Given the description of an element on the screen output the (x, y) to click on. 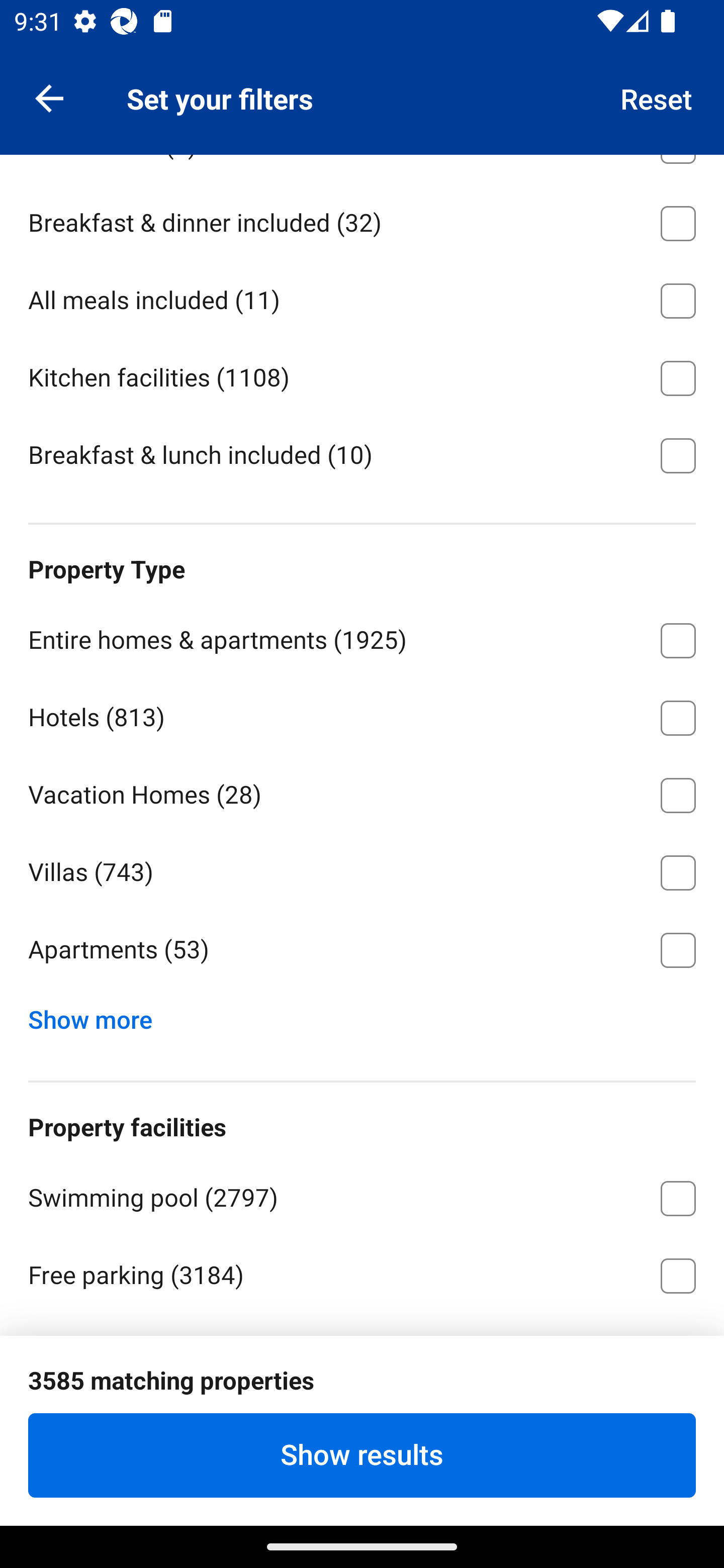
Navigate up (49, 97)
Reset (656, 97)
Breakfast & dinner included ⁦(32) (361, 219)
All meals included ⁦(11) (361, 296)
Kitchen facilities ⁦(1108) (361, 374)
Breakfast & lunch included ⁦(10) (361, 453)
Entire homes & apartments ⁦(1925) (361, 636)
Hotels ⁦(813) (361, 713)
Vacation Homes ⁦(28) (361, 791)
Villas ⁦(743) (361, 869)
Apartments ⁦(53) (361, 949)
Show more (97, 1015)
Swimming pool ⁦(2797) (361, 1195)
Free parking ⁦(3184) (361, 1272)
Show results (361, 1454)
